Given the description of an element on the screen output the (x, y) to click on. 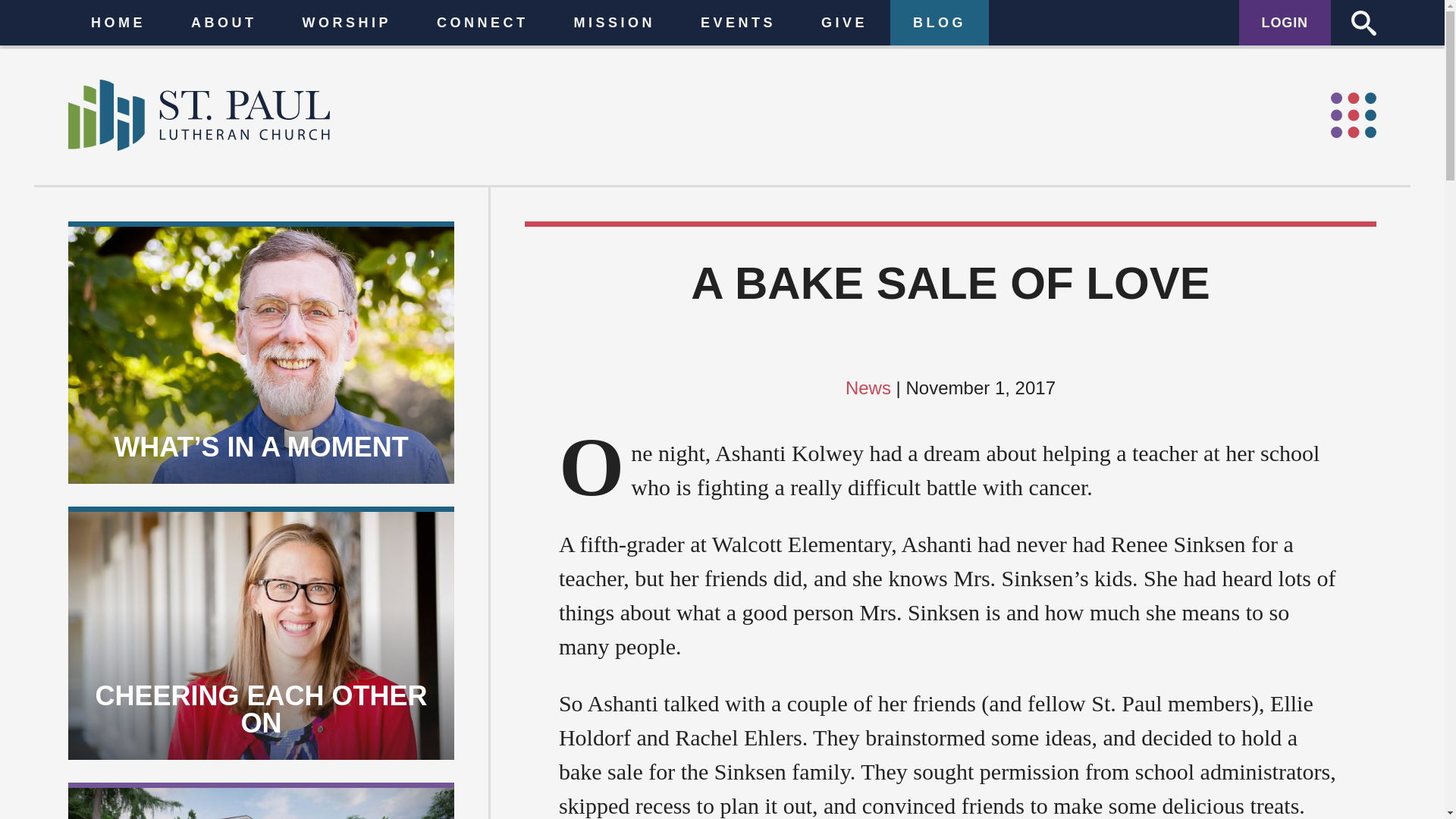
WORSHIP (231, 15)
ABOUT (149, 15)
CONNECT (321, 15)
HOME (78, 15)
